Given the description of an element on the screen output the (x, y) to click on. 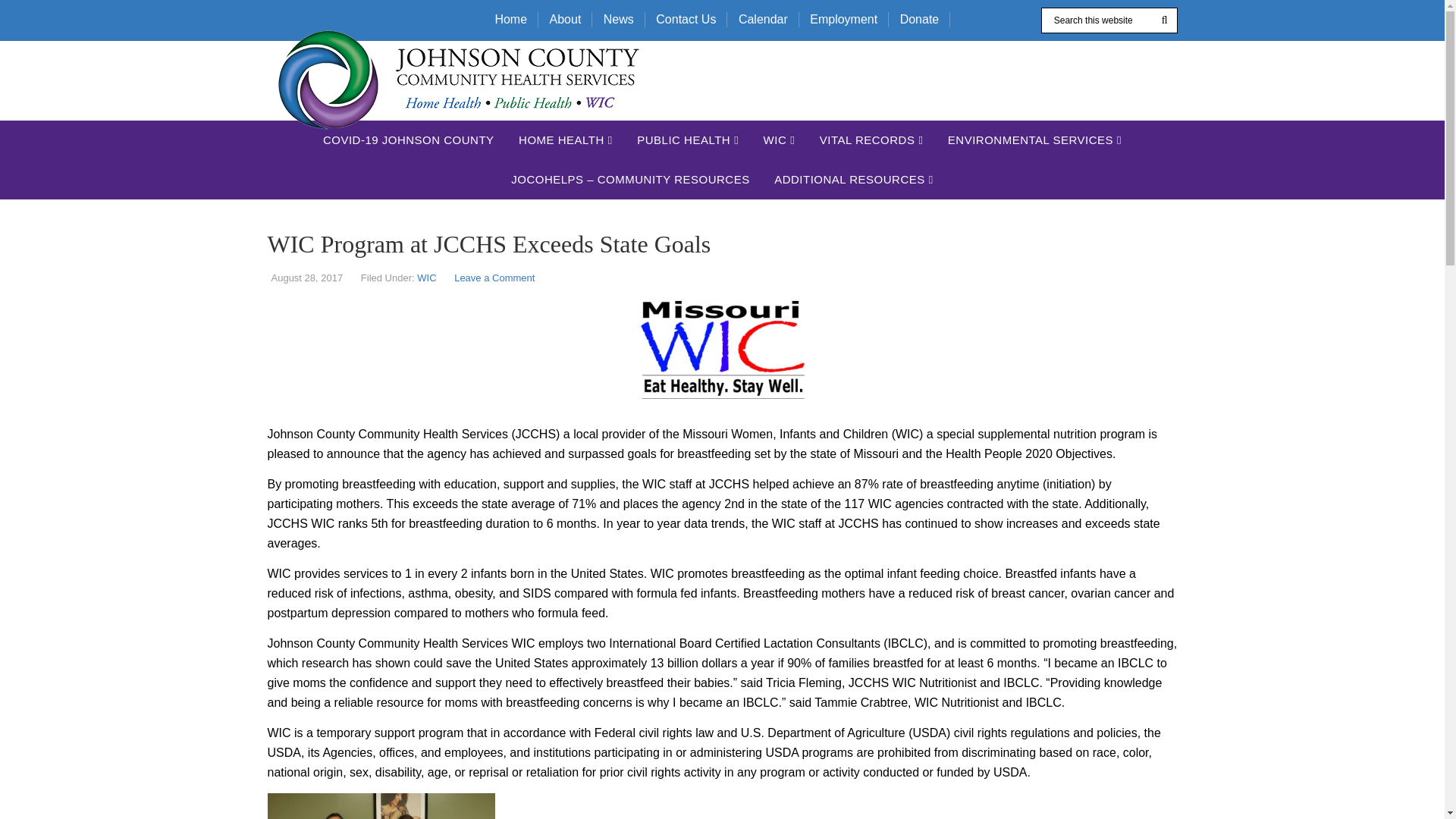
COVID-19 JOHNSON COUNTY (409, 139)
Johnson County Community Health Services (457, 80)
Calendar (763, 19)
About (565, 19)
Employment (843, 19)
Contact Us (685, 19)
VITAL RECORDS (871, 139)
News (618, 19)
PUBLIC HEALTH (687, 139)
HOME HEALTH (565, 139)
Home (510, 19)
Donate (919, 19)
WIC (779, 139)
